Given the description of an element on the screen output the (x, y) to click on. 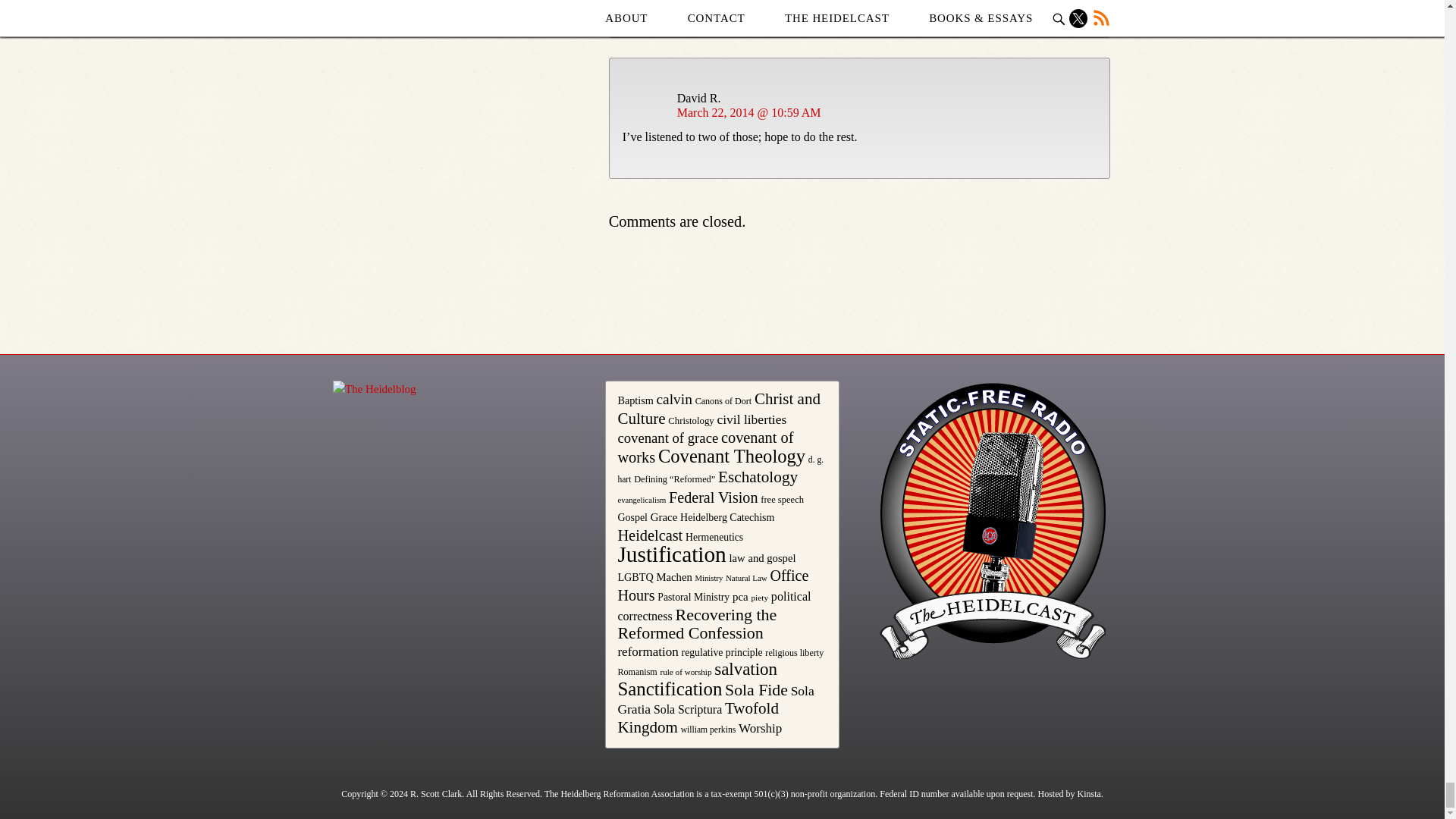
R. Scott Clark (435, 793)
The Heidelcast (991, 519)
The Heidelblog (374, 389)
